Given the description of an element on the screen output the (x, y) to click on. 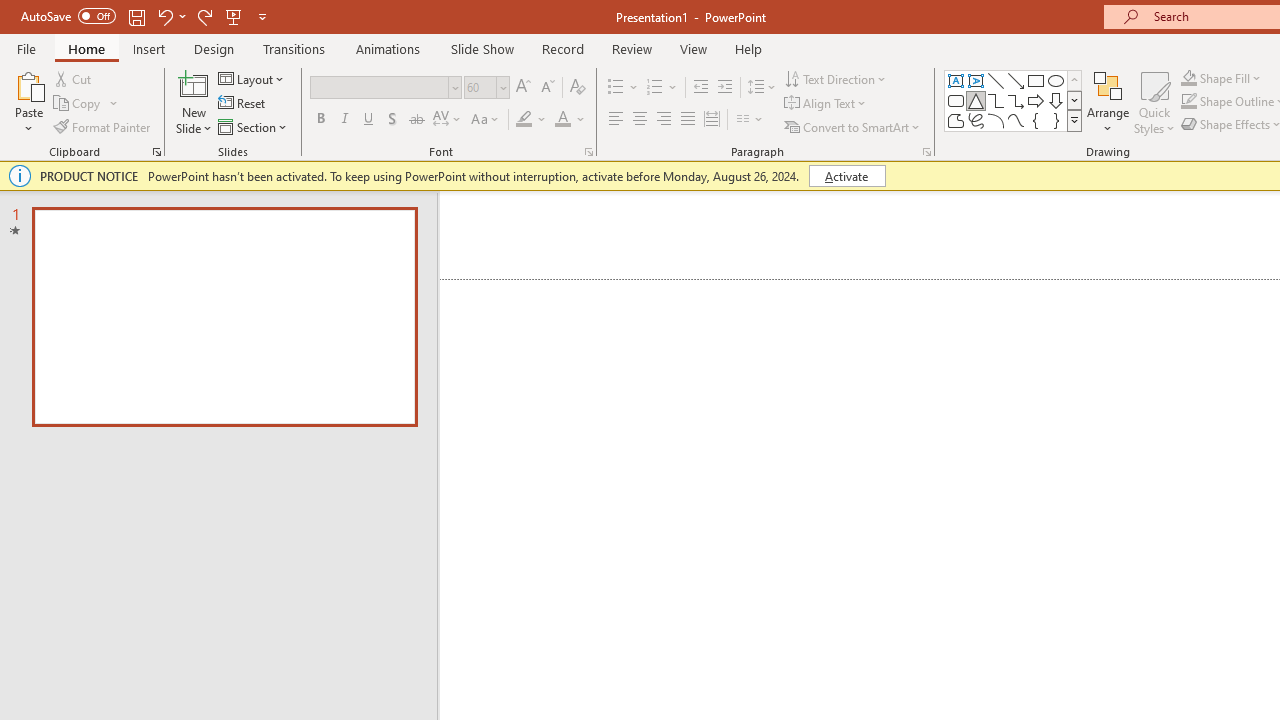
Paste (28, 102)
Change Case (486, 119)
Arrow: Down (1055, 100)
Character Spacing (447, 119)
Line (995, 80)
Columns (750, 119)
Rectangle (1035, 80)
